Given the description of an element on the screen output the (x, y) to click on. 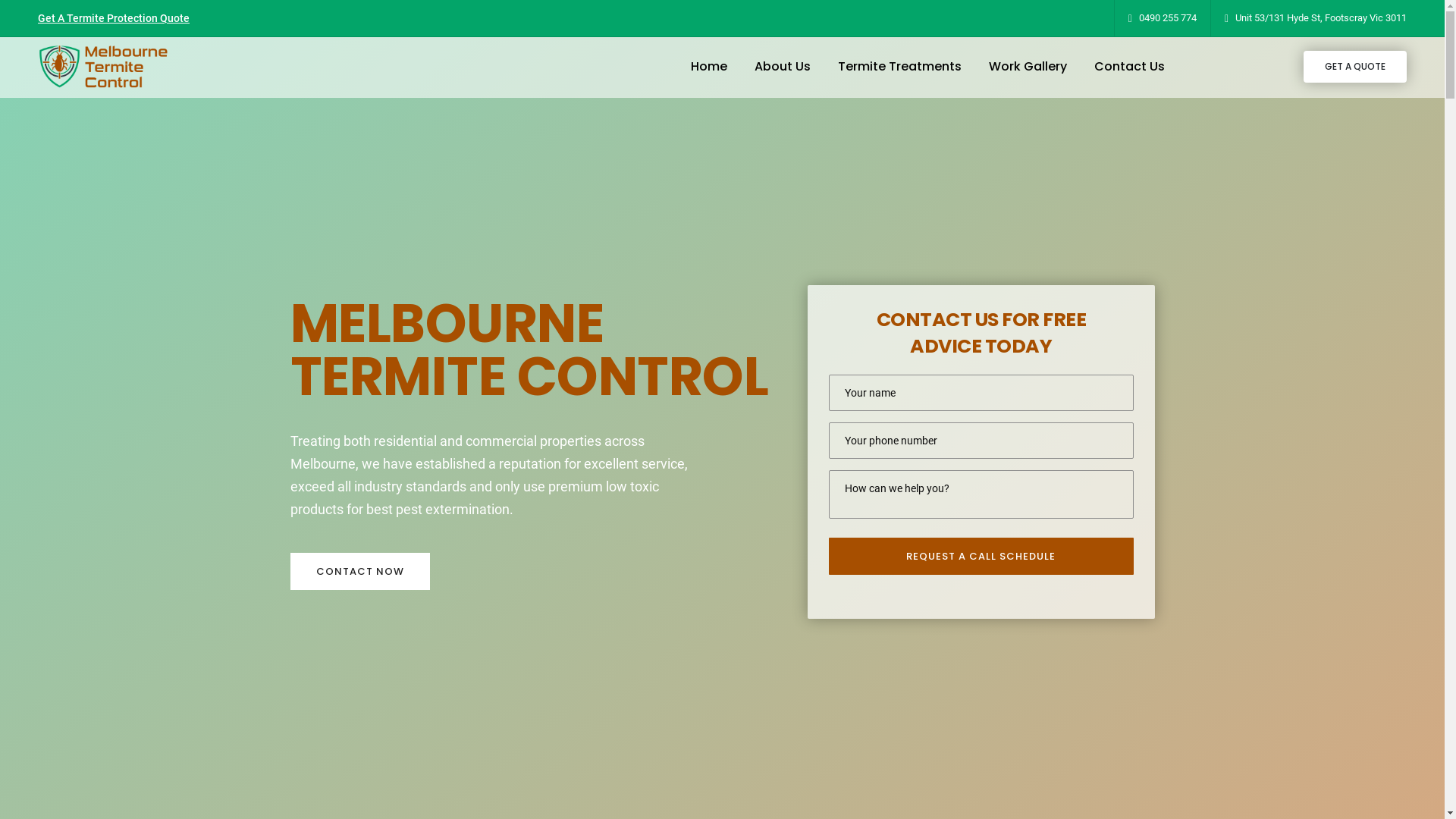
CONTACT NOW Element type: text (359, 571)
0490 255 774 Element type: text (1167, 17)
Contact Us Element type: text (1129, 66)
REQUEST A CALL SCHEDULE Element type: text (980, 556)
Home Element type: text (708, 66)
Termite Treatments Element type: text (899, 66)
GET A QUOTE Element type: text (1354, 66)
About Us Element type: text (782, 66)
Get A Termite Protection Quote Element type: text (113, 18)
Work Gallery Element type: text (1027, 66)
